Given the description of an element on the screen output the (x, y) to click on. 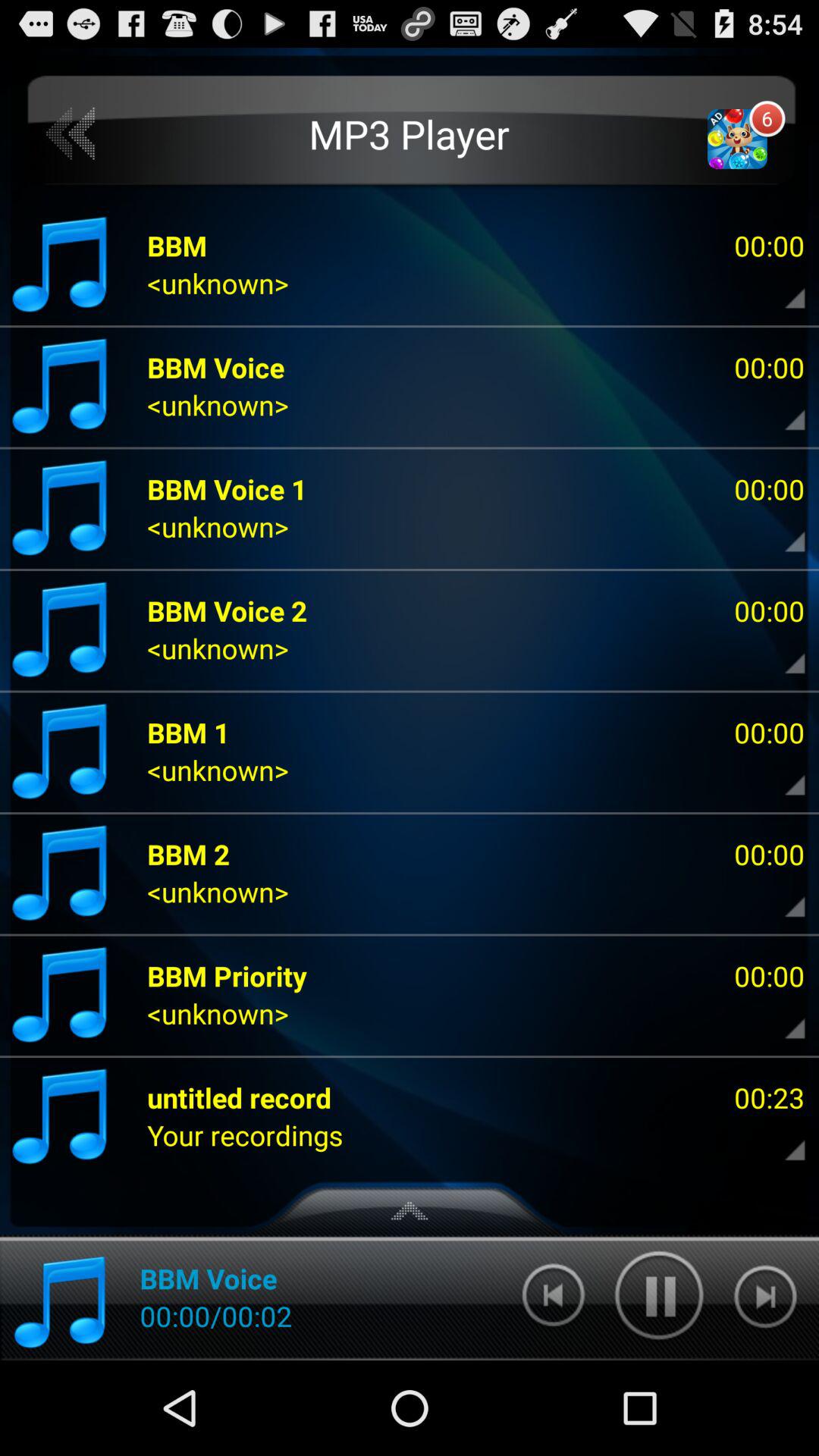
show details (782, 287)
